Given the description of an element on the screen output the (x, y) to click on. 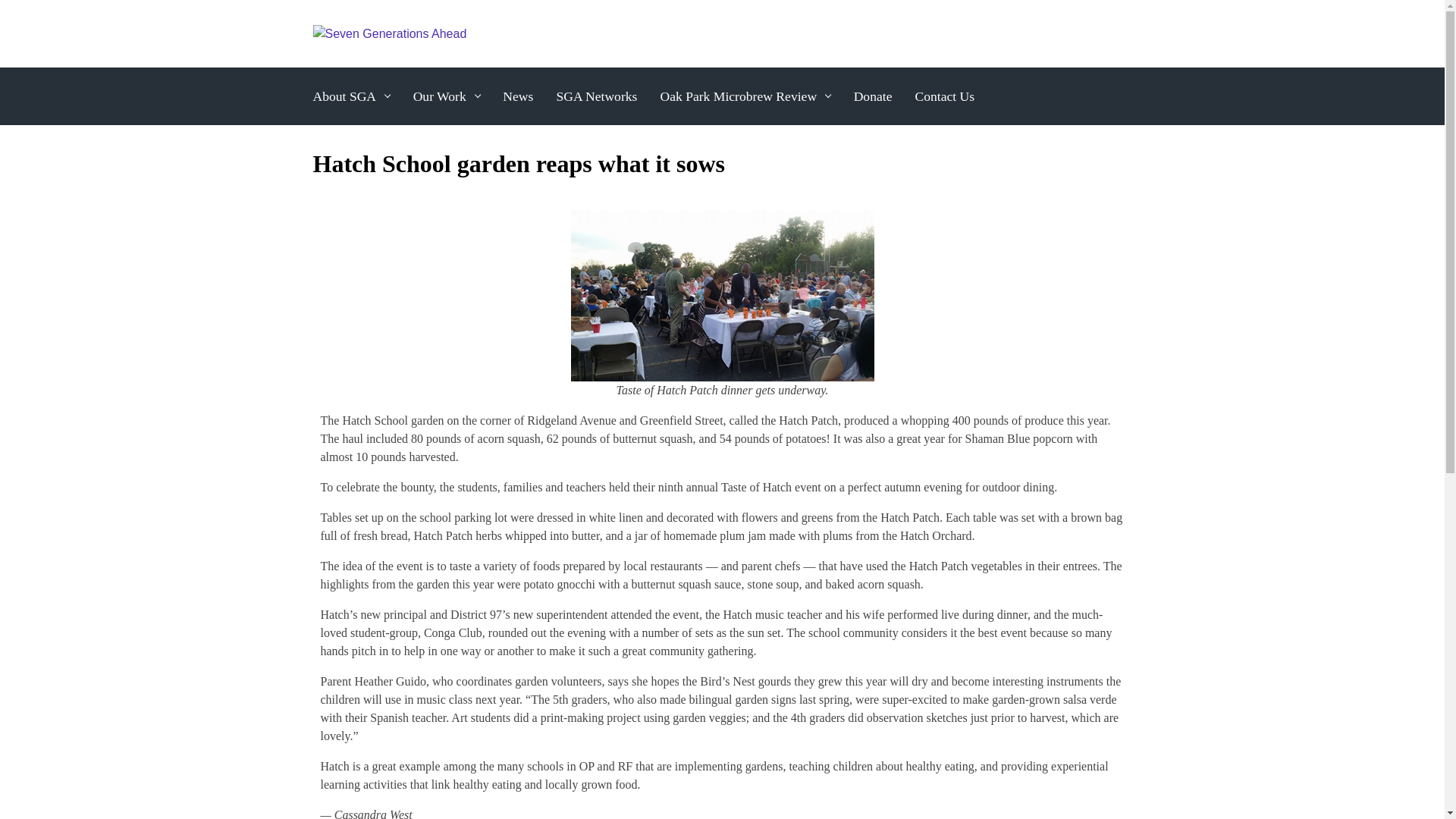
Contact Us (943, 95)
Donate (872, 95)
News (517, 95)
Instagram (1091, 33)
Facebook (1031, 33)
About SGA (350, 95)
SGA Networks (596, 95)
Twitter (1060, 33)
Our Work (446, 95)
Oak Park Microbrew Review (744, 95)
